Given the description of an element on the screen output the (x, y) to click on. 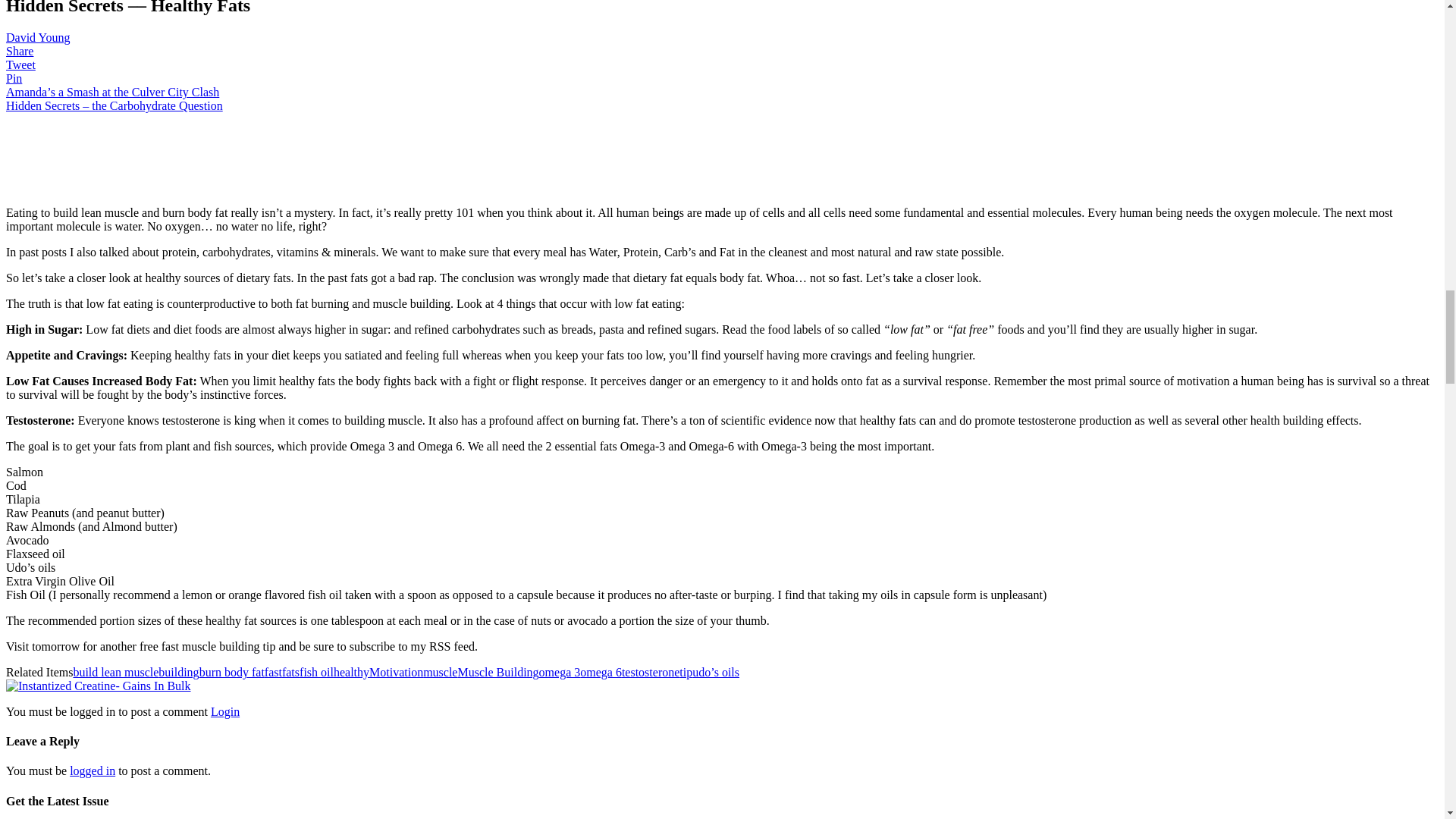
Instantized Creatine - Gains In Bulk (97, 685)
Posts by David Young (37, 37)
